Given the description of an element on the screen output the (x, y) to click on. 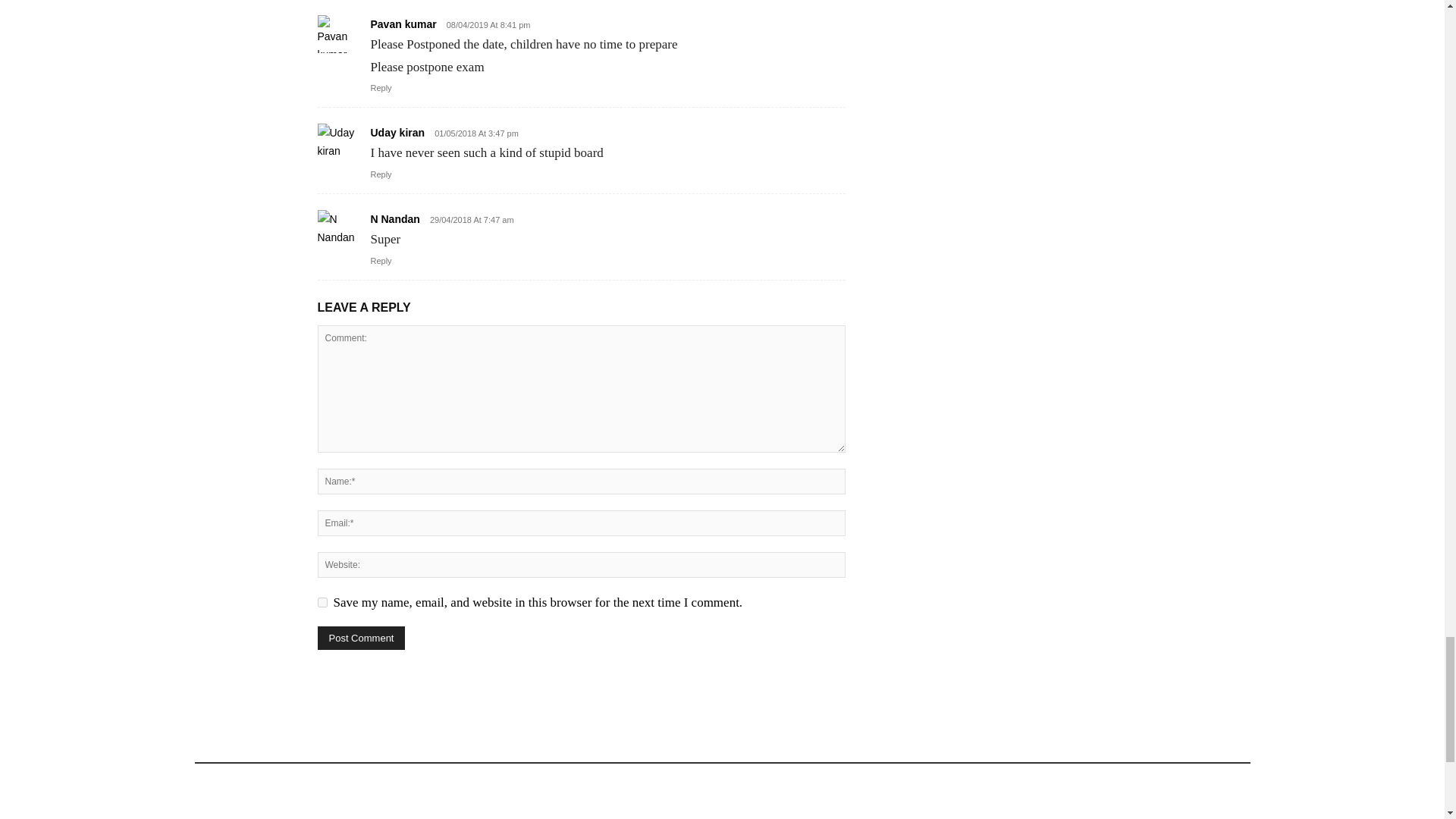
Post Comment (360, 638)
yes (321, 602)
